Given the description of an element on the screen output the (x, y) to click on. 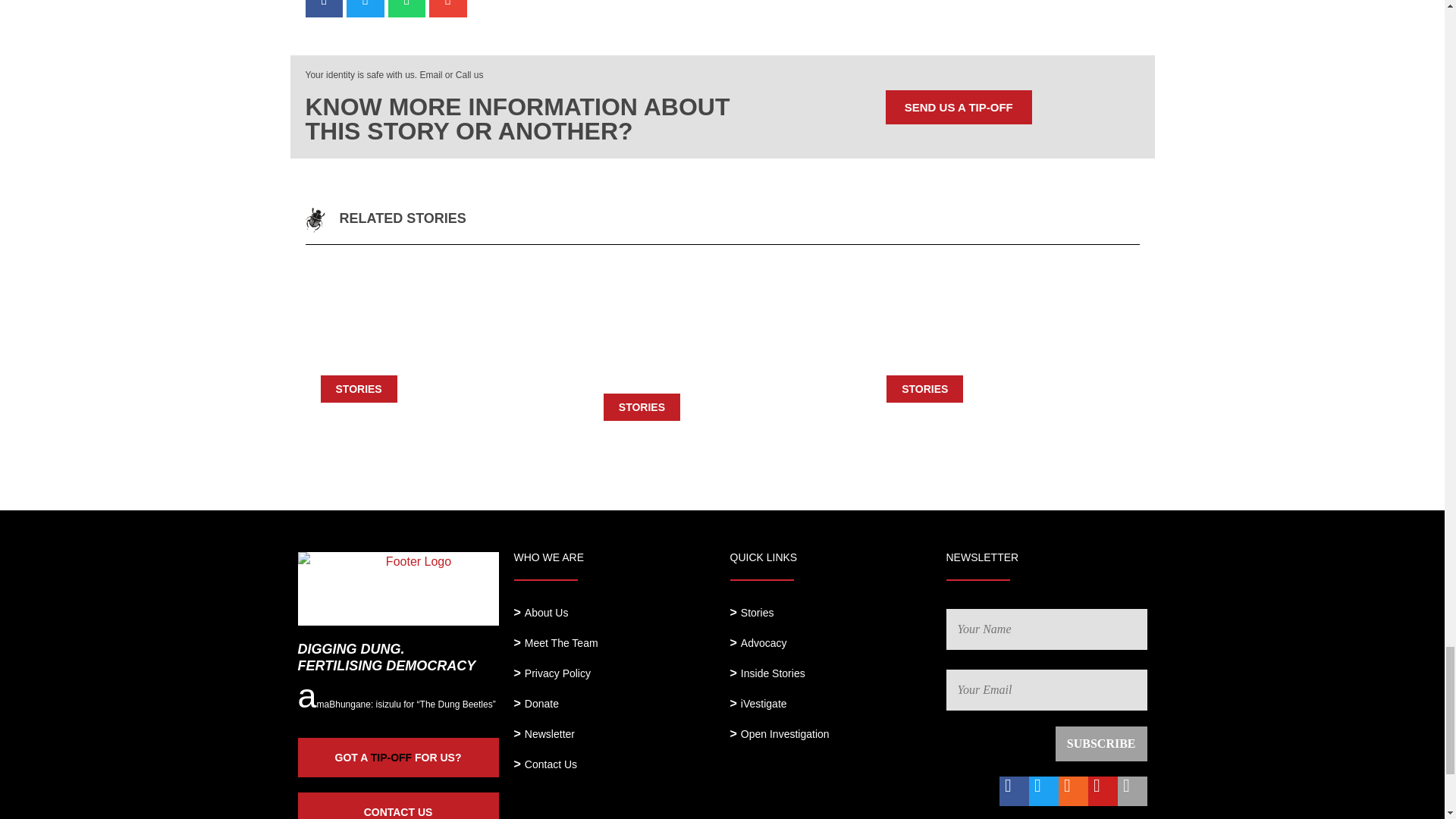
Subscribe (1101, 743)
